Given the description of an element on the screen output the (x, y) to click on. 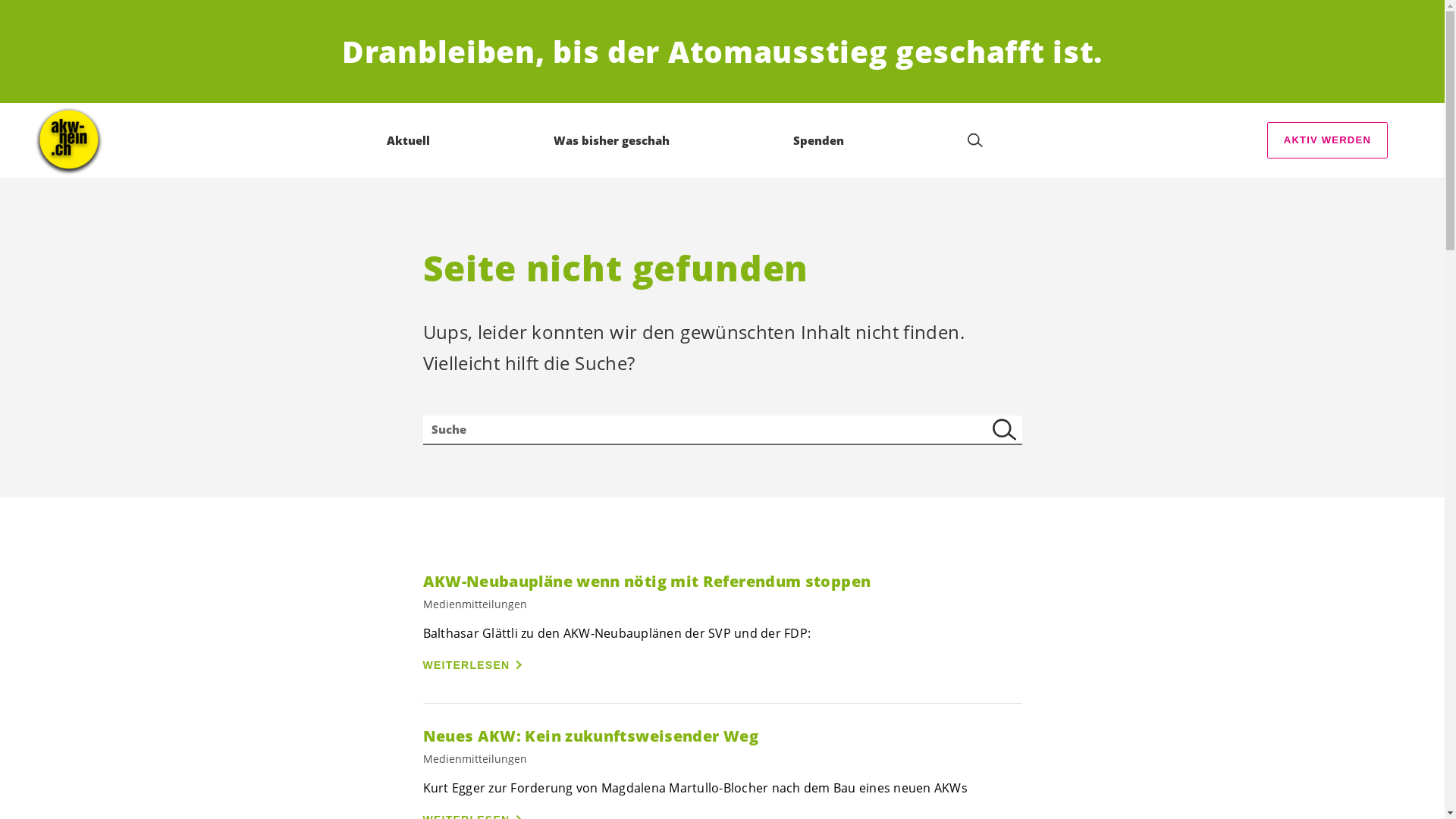
Was bisher geschah Element type: text (611, 139)
Startseite Element type: hover (68, 140)
ZUM HAUPTINHALT SPRINGEN Element type: text (98, 15)
Spenden Element type: text (818, 139)
Aktuell Element type: text (407, 139)
AKTIV WERDEN Element type: text (1327, 140)
WEITERLESEN Element type: text (474, 664)
Neues AKW: Kein zukunftsweisender Weg Element type: text (722, 735)
